Given the description of an element on the screen output the (x, y) to click on. 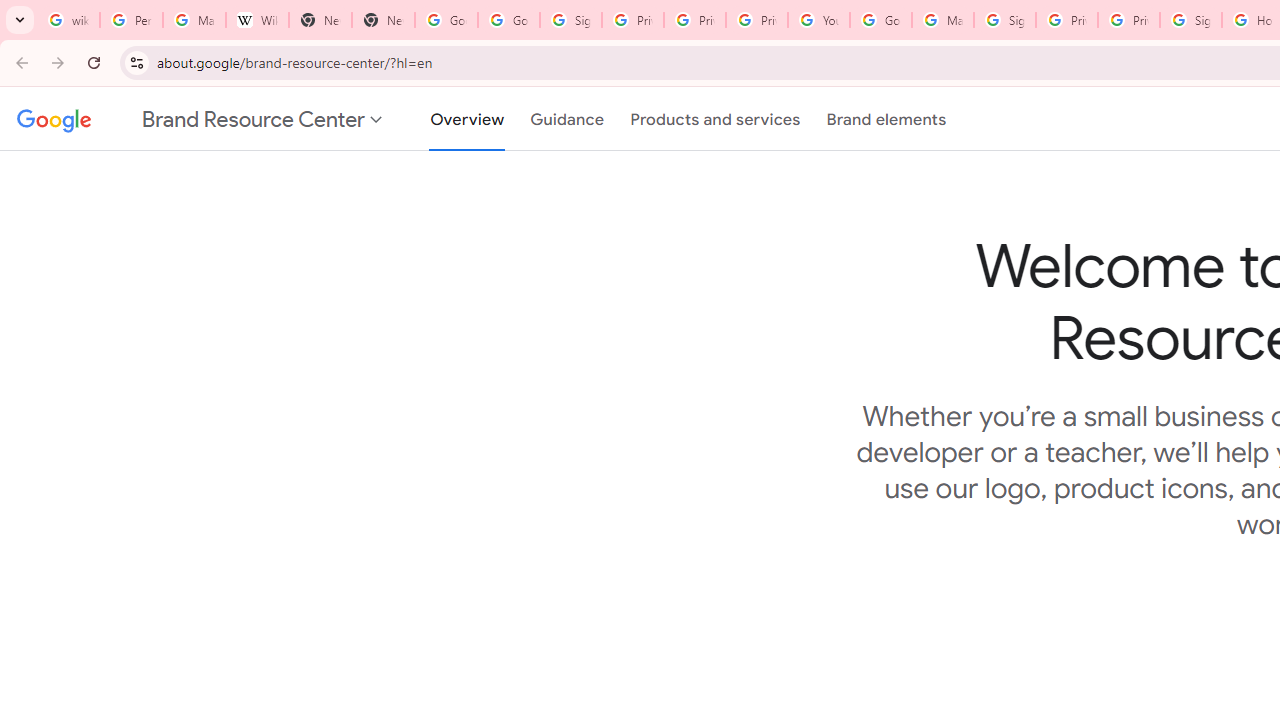
View site information (136, 62)
Manage your Location History - Google Search Help (194, 20)
Sign in - Google Accounts (570, 20)
Products and services (715, 119)
Sign in - Google Accounts (1004, 20)
Google Drive: Sign-in (508, 20)
Sign in - Google Accounts (1190, 20)
Google site switcher (200, 119)
New Tab (320, 20)
Google (50, 119)
Forward (57, 62)
Search tabs (20, 20)
Reload (93, 62)
